Given the description of an element on the screen output the (x, y) to click on. 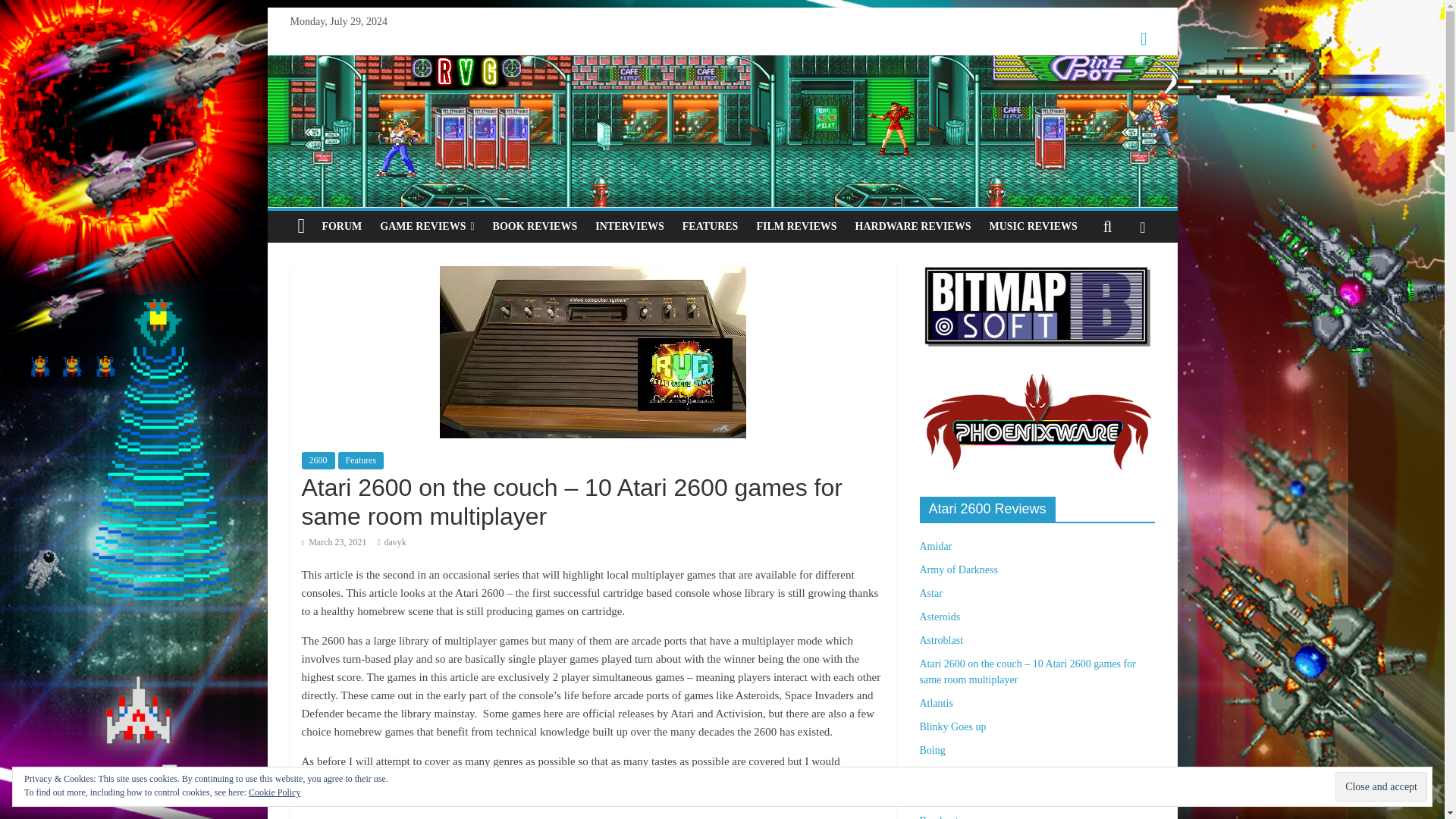
2:32 pm (333, 542)
GAME REVIEWS (427, 226)
FORUM (342, 226)
davyk (395, 542)
Close and accept (1380, 786)
